Given the description of an element on the screen output the (x, y) to click on. 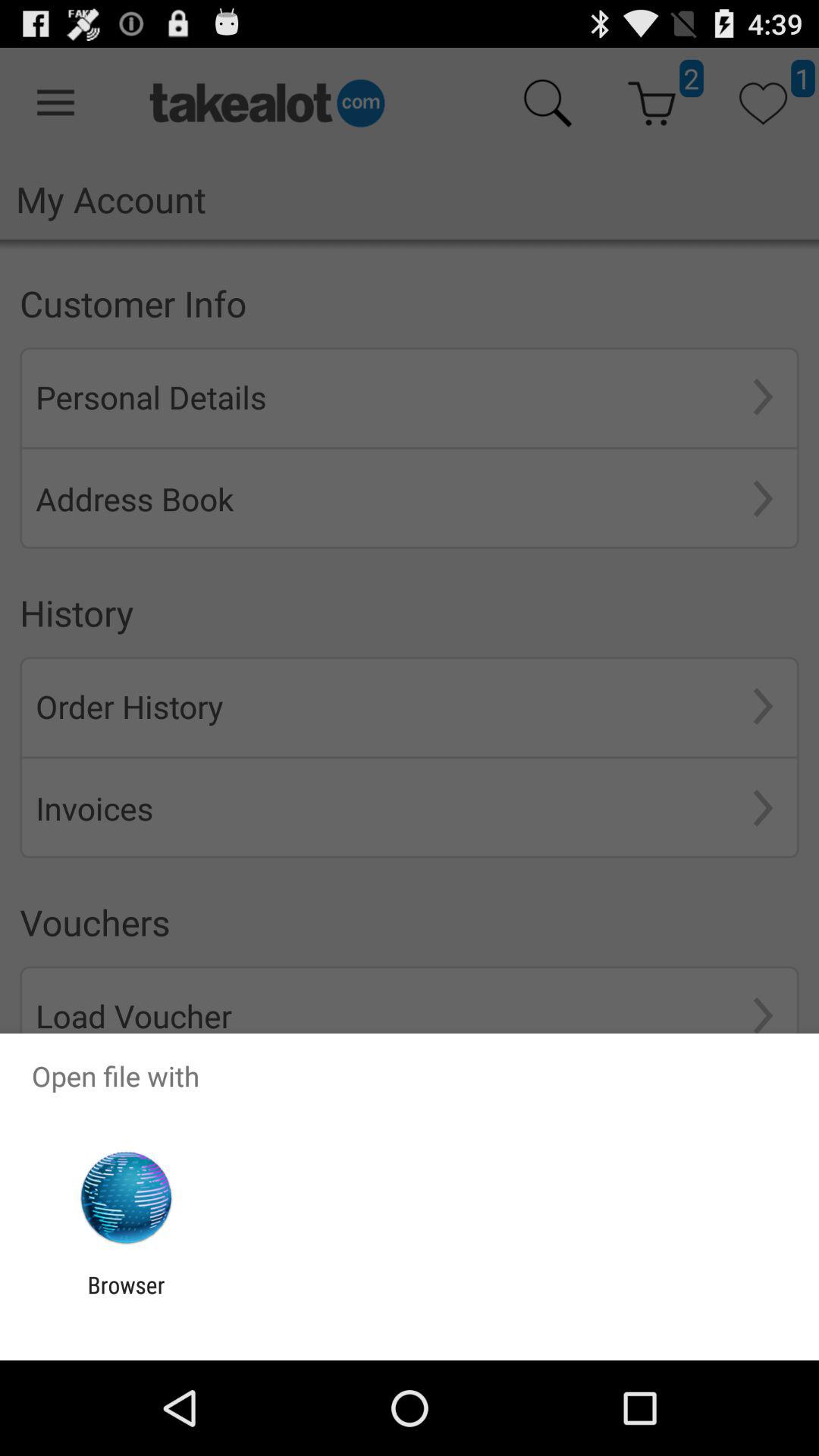
choose the app above the browser app (126, 1198)
